Given the description of an element on the screen output the (x, y) to click on. 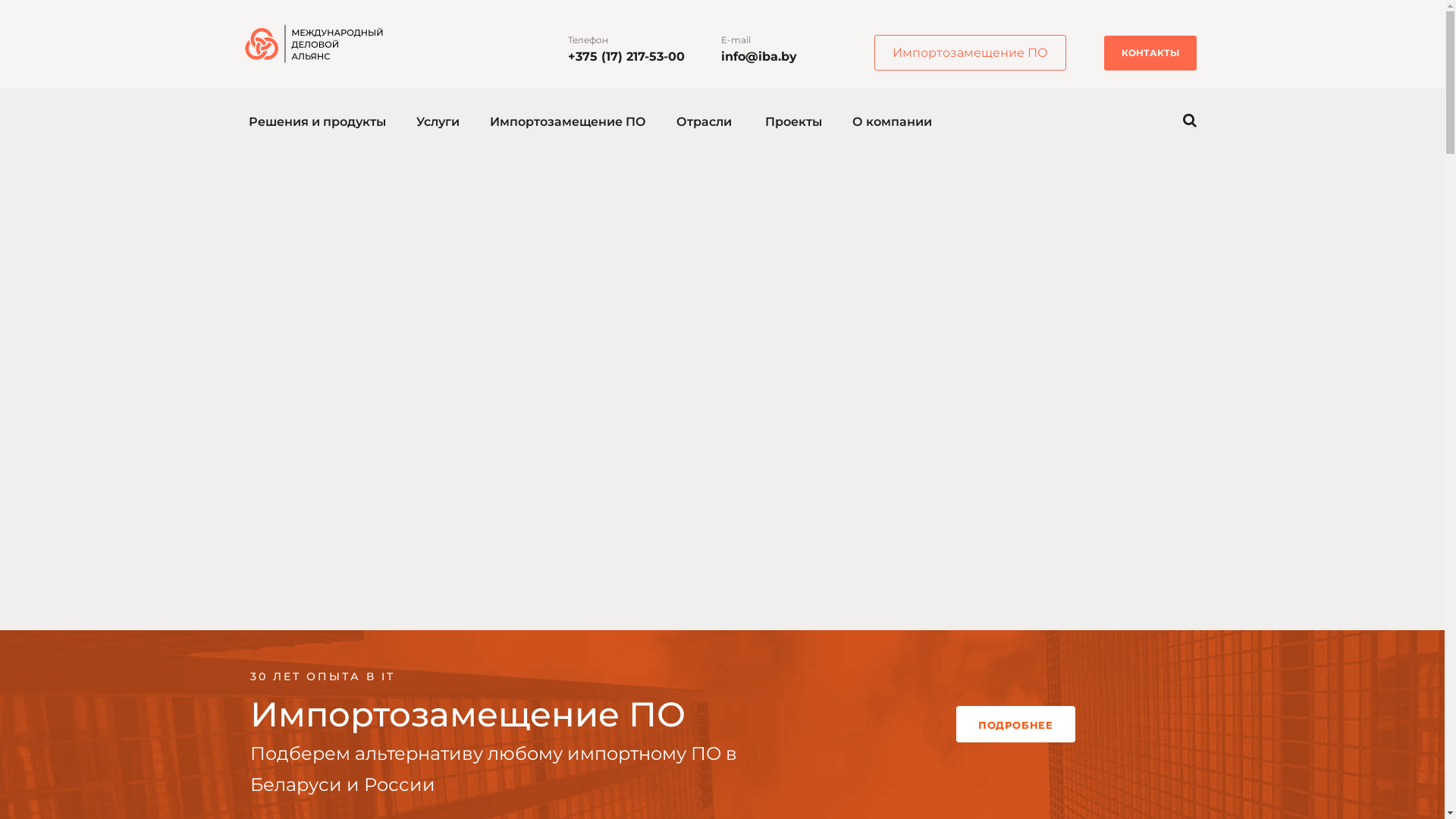
+375 (17) 217-53-00 Element type: text (625, 56)
logo-mda Element type: hover (316, 43)
info@iba.by Element type: text (758, 56)
